Given the description of an element on the screen output the (x, y) to click on. 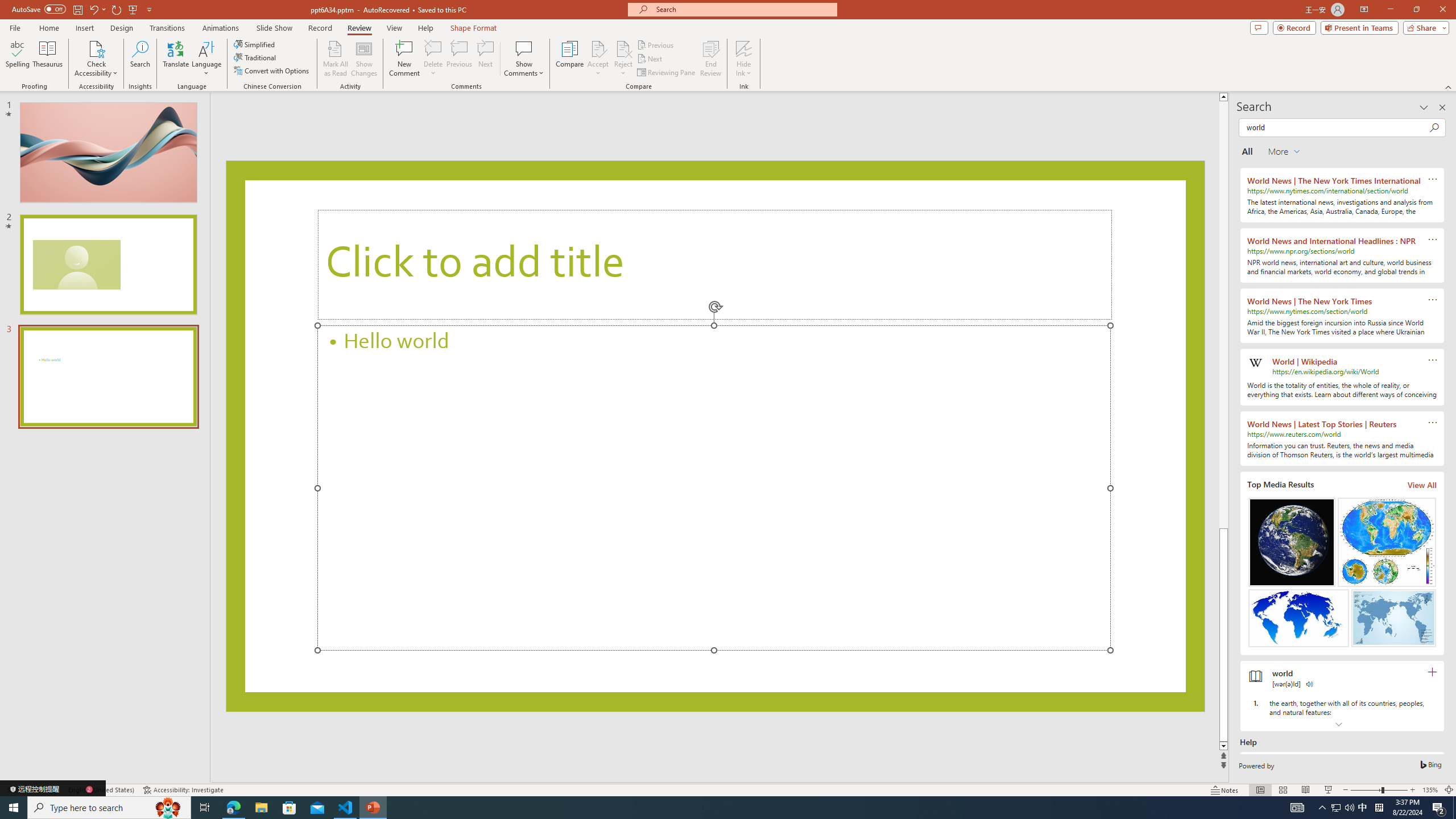
Reject (622, 58)
Accept (598, 58)
